Given the description of an element on the screen output the (x, y) to click on. 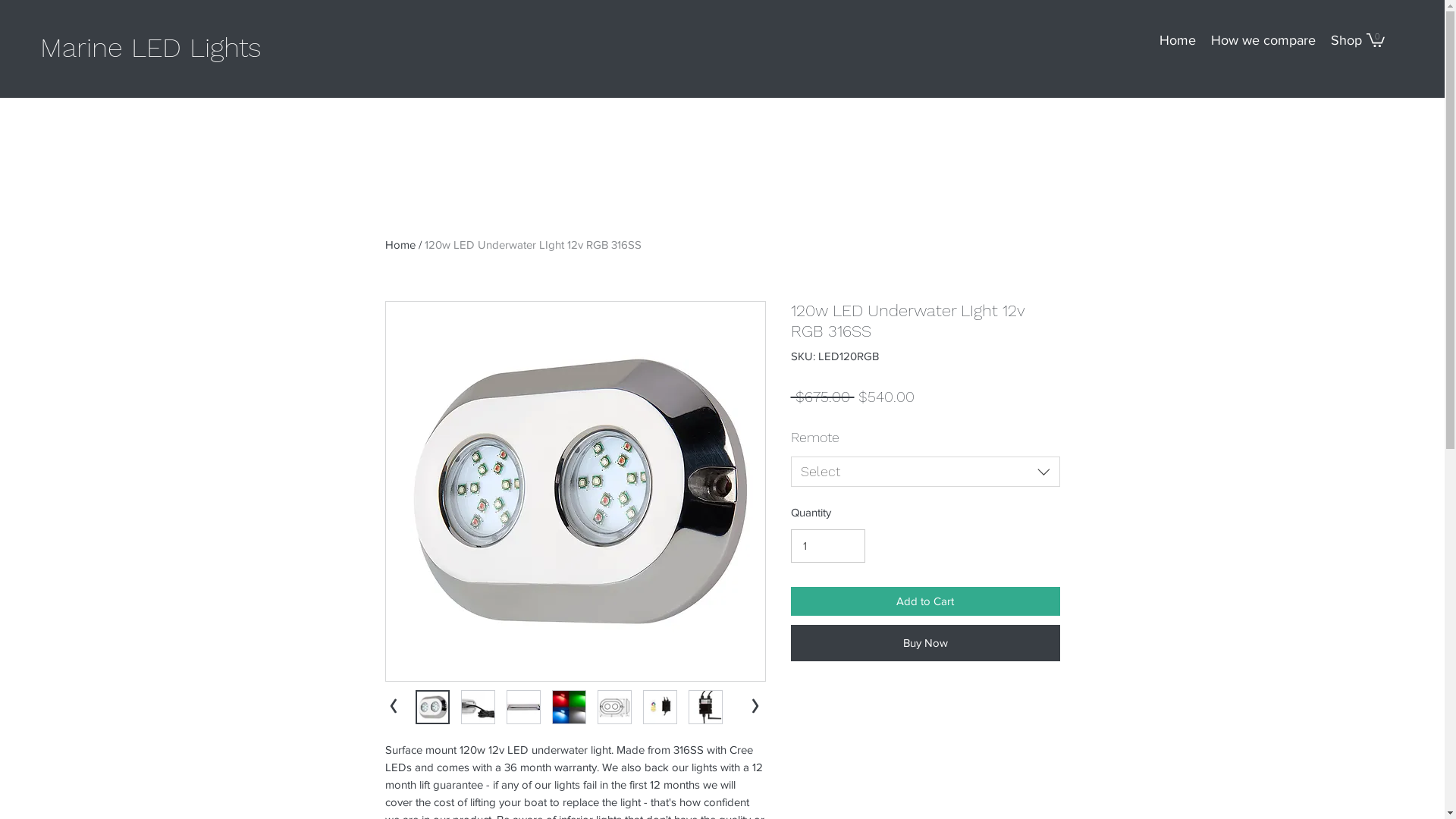
How we compare Element type: text (1263, 39)
Marine LED Lights Element type: text (150, 47)
Buy Now Element type: text (924, 642)
Add to Cart Element type: text (924, 601)
Home Element type: text (1177, 39)
Home Element type: text (400, 244)
Shop Element type: text (1346, 39)
120w LED Underwater LIght 12v RGB 316SS Element type: text (532, 244)
0 Element type: text (1375, 39)
Select Element type: text (924, 471)
